Given the description of an element on the screen output the (x, y) to click on. 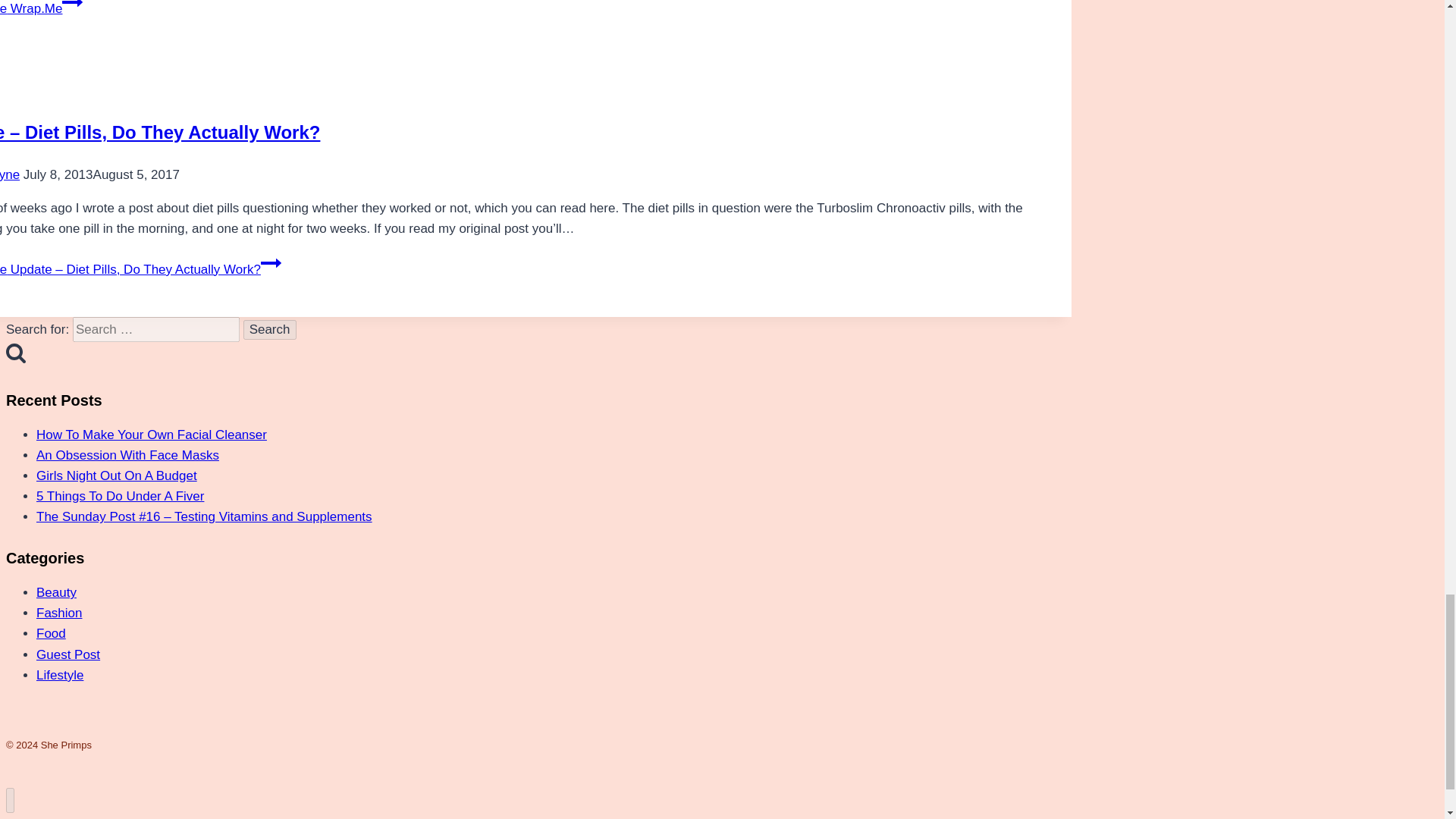
Search (270, 329)
Read More Wrap.Me (41, 8)
Search (270, 329)
How To Make Your Own Facial Cleanser (151, 434)
Lisa Jayne (10, 174)
Search (270, 329)
An Obsession With Face Masks (127, 454)
